Given the description of an element on the screen output the (x, y) to click on. 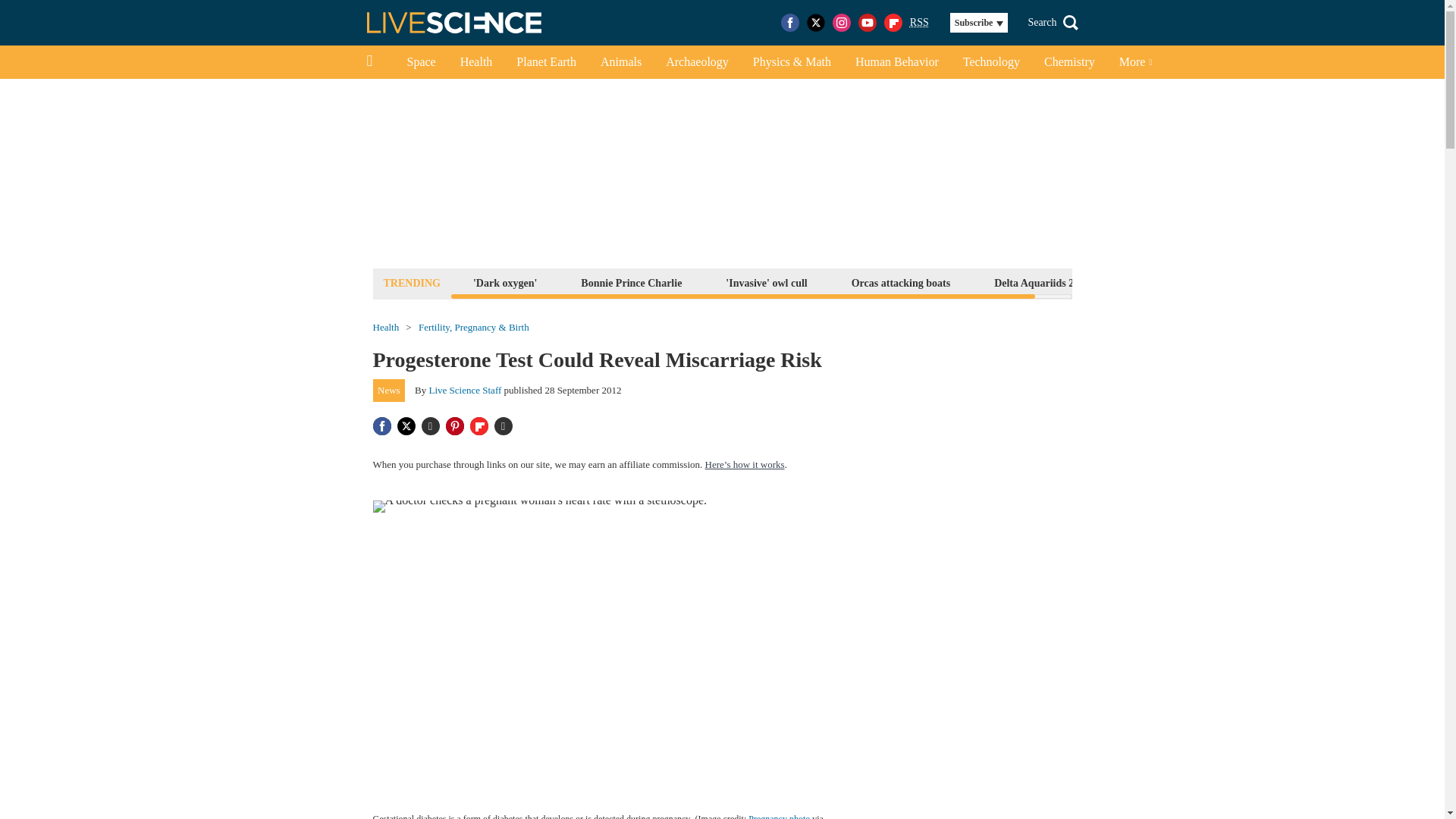
Live Science Staff (465, 389)
'Dark oxygen' (504, 282)
Planet Earth (545, 61)
RSS (919, 22)
'Invasive' owl cull (766, 282)
Orcas attacking boats (900, 282)
Animals (620, 61)
Human Behavior (896, 61)
Really Simple Syndication (919, 21)
Archaeology (697, 61)
Technology (991, 61)
Health (476, 61)
News (389, 390)
Bonnie Prince Charlie (631, 282)
Delta Aquariids 2024 (1041, 282)
